Given the description of an element on the screen output the (x, y) to click on. 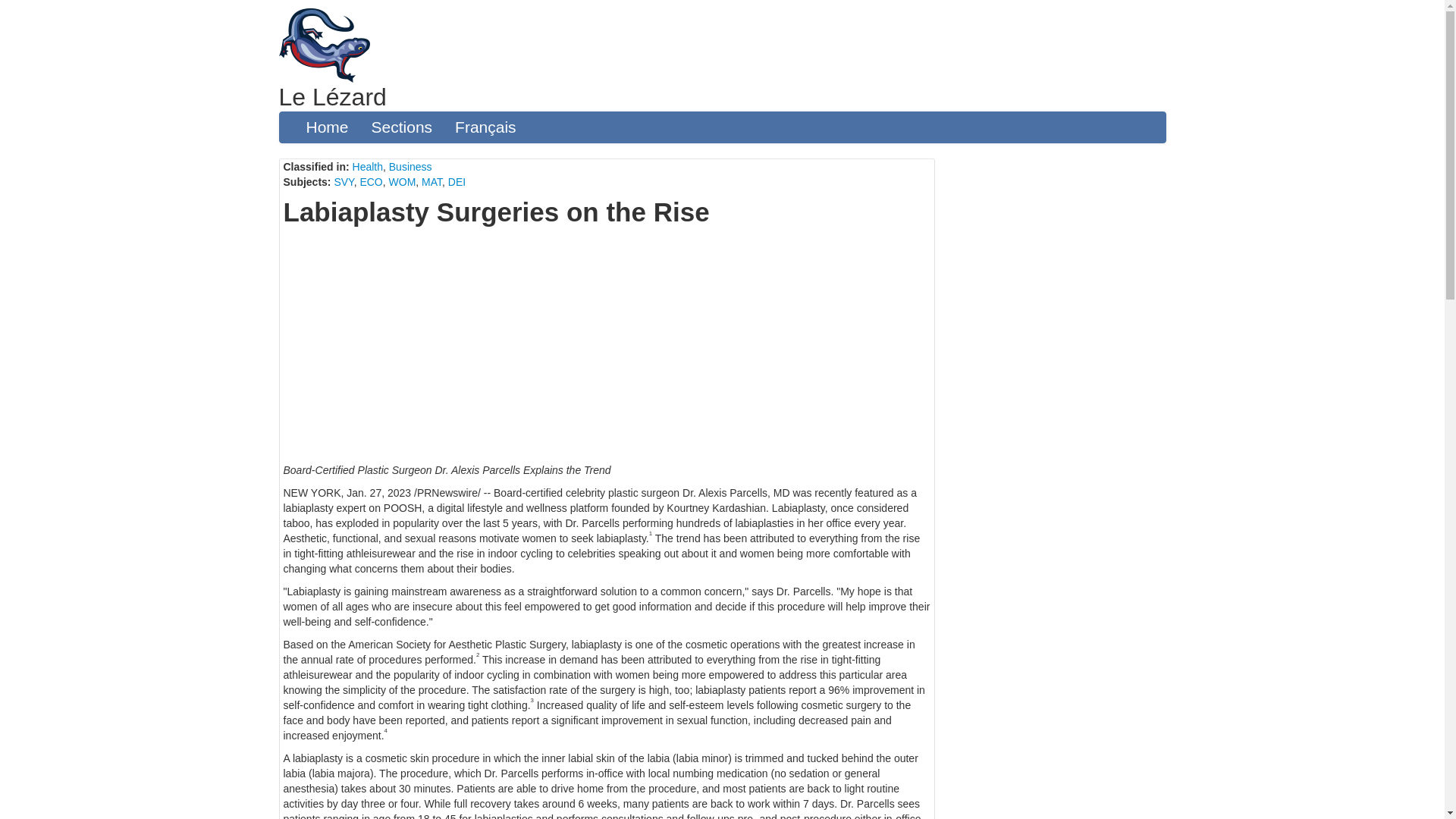
ECO (370, 182)
Health (367, 166)
Business (410, 166)
MAT (432, 182)
DEI (456, 182)
SVY (343, 182)
Sections (401, 127)
WOM (402, 182)
Home (326, 127)
